Given the description of an element on the screen output the (x, y) to click on. 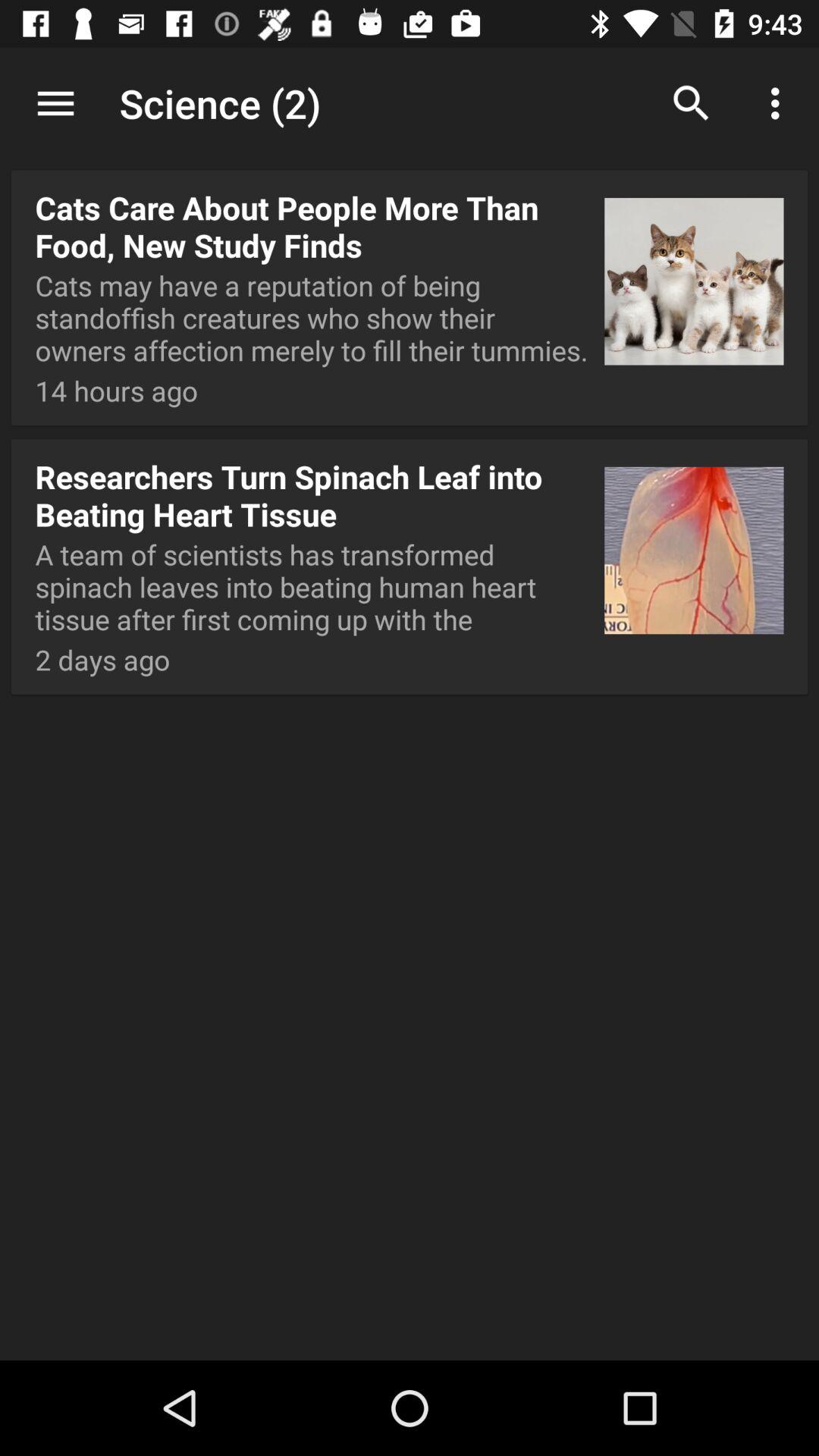
open icon to the left of science (2) app (55, 103)
